Given the description of an element on the screen output the (x, y) to click on. 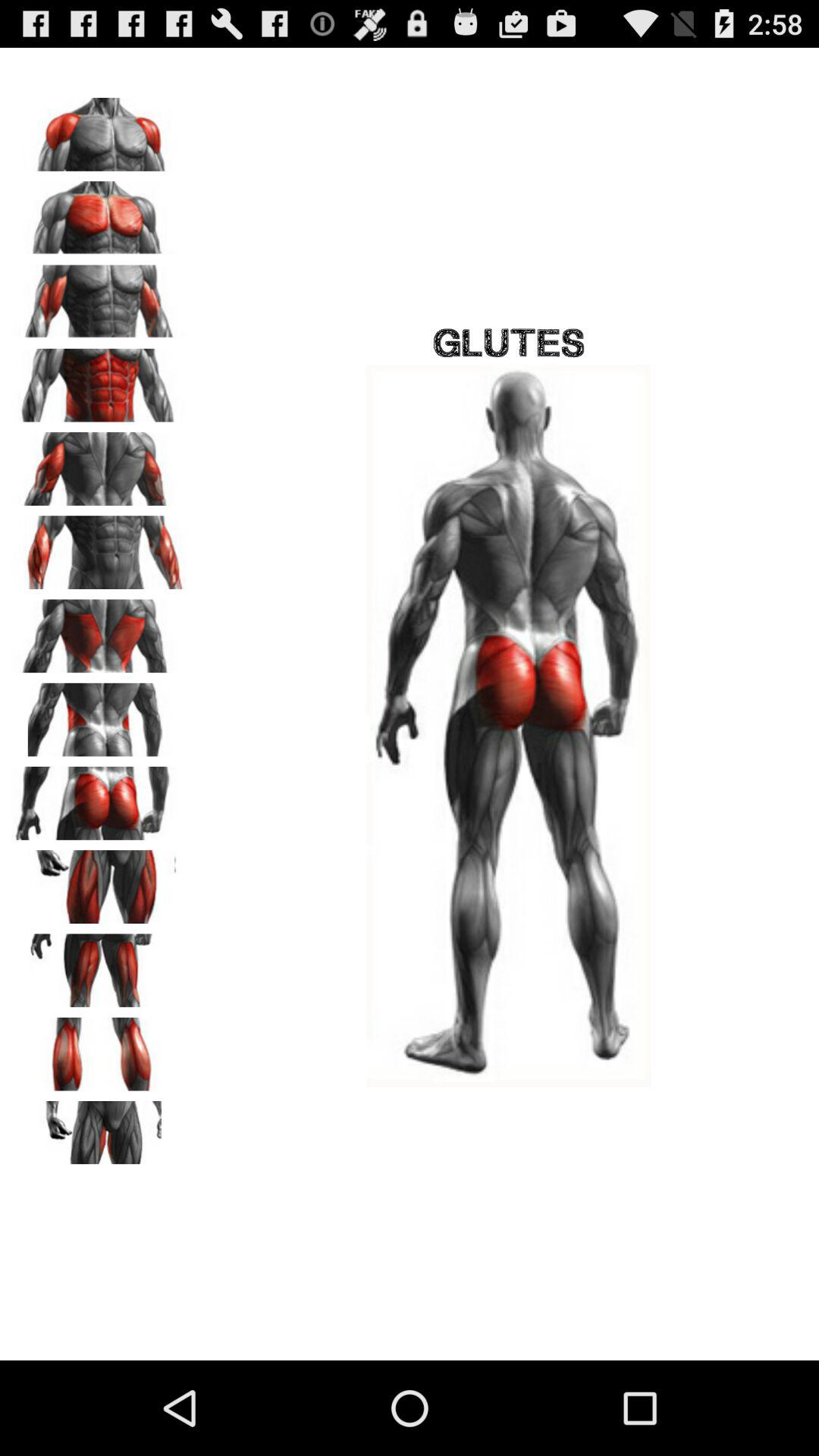
front abdomen (99, 380)
